Given the description of an element on the screen output the (x, y) to click on. 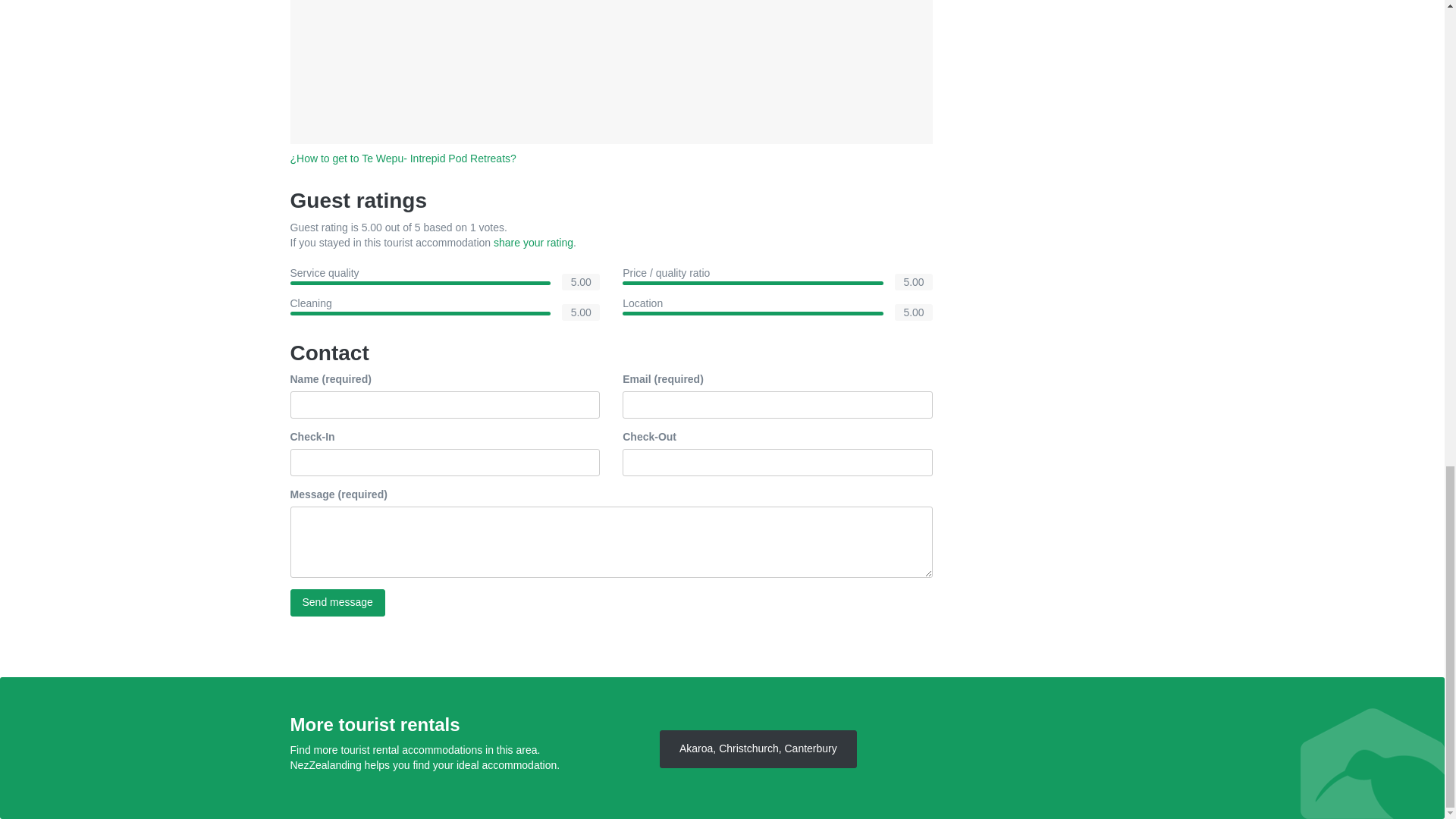
share your rating (533, 242)
Send message (336, 602)
Akaroa, Christchurch, Canterbury (758, 749)
